Given the description of an element on the screen output the (x, y) to click on. 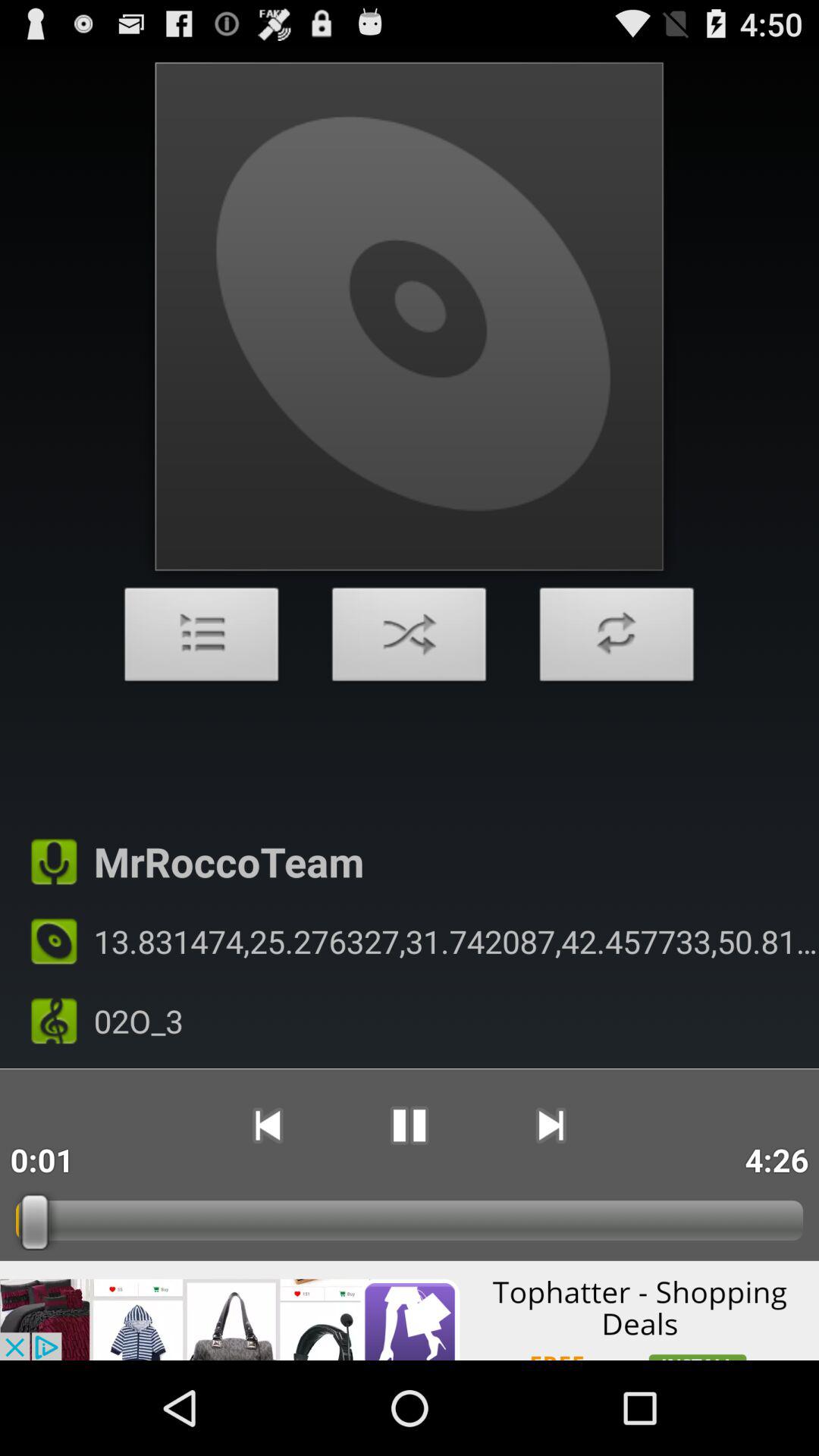
advertisement (409, 1310)
